Given the description of an element on the screen output the (x, y) to click on. 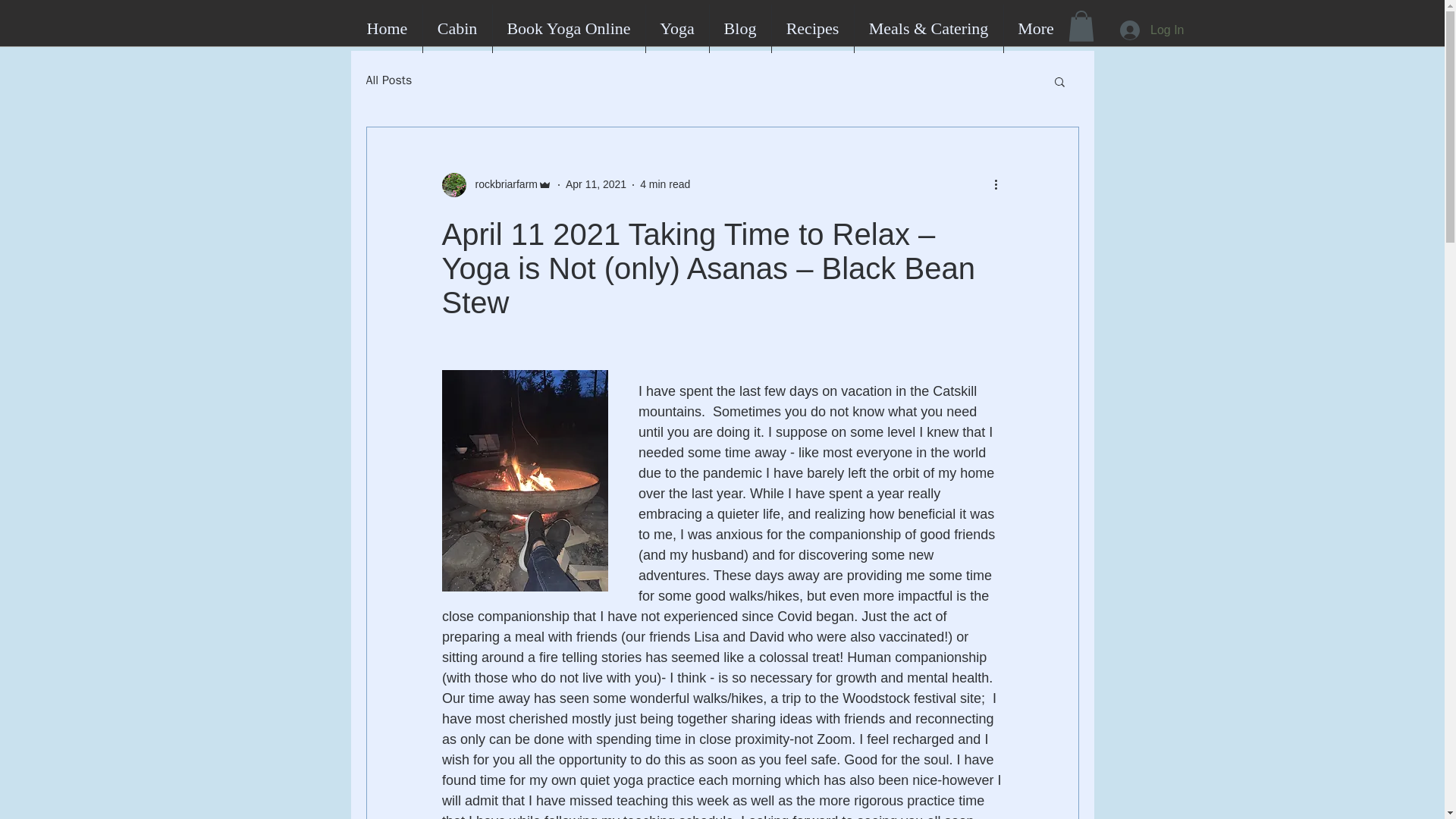
Blog (740, 28)
rockbriarfarm (501, 184)
All Posts (388, 80)
Log In (1151, 30)
Book Yoga Online (569, 28)
Recipes (812, 28)
4 min read (665, 184)
Home (387, 28)
Yoga (677, 28)
rockbriarfarm (496, 184)
Cabin (457, 28)
Apr 11, 2021 (596, 184)
